Given the description of an element on the screen output the (x, y) to click on. 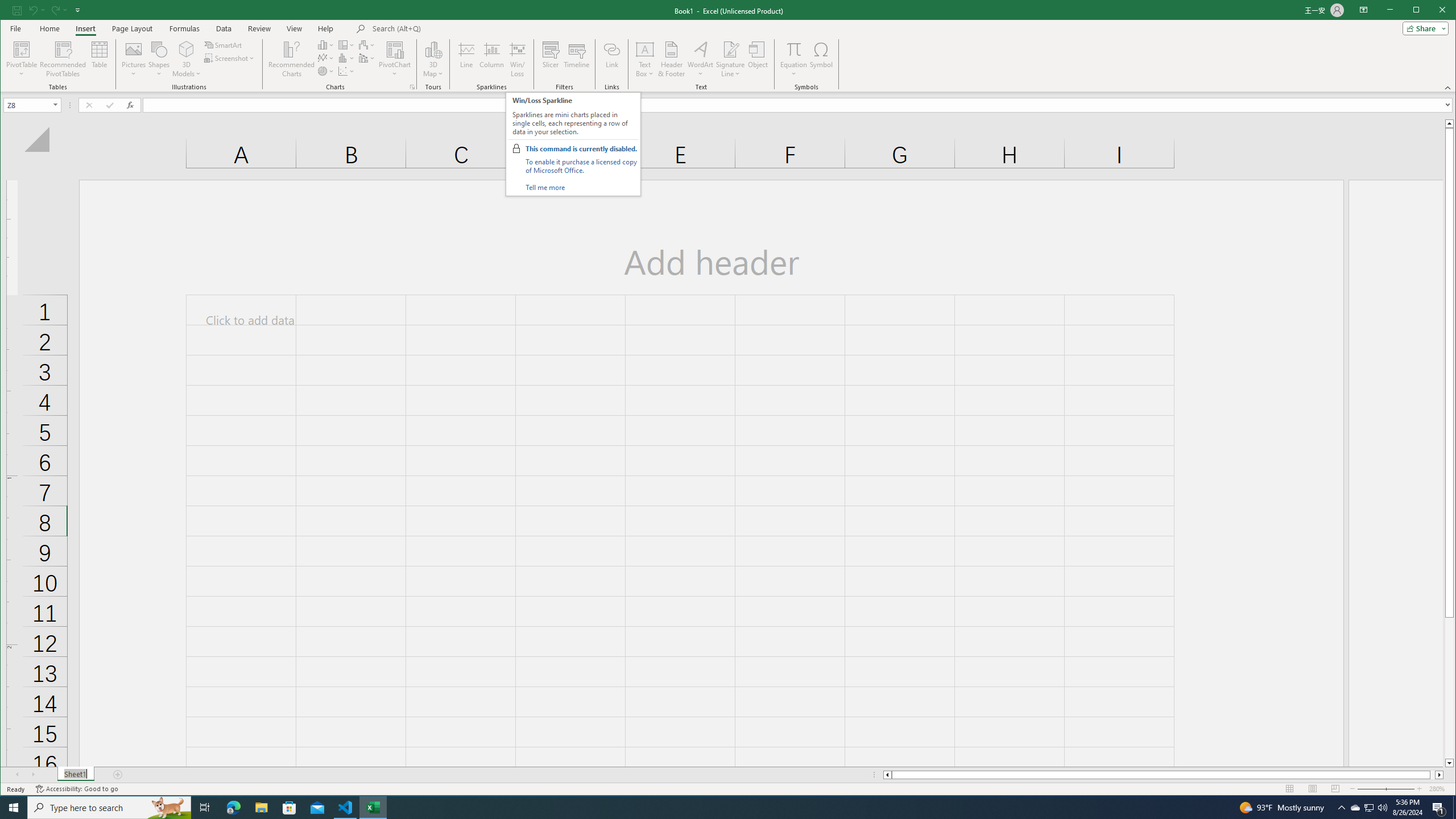
Object... (757, 59)
Slicer... (550, 59)
Signature Line (729, 48)
Insert Pie or Doughnut Chart (325, 70)
Win/Loss (517, 59)
Column (492, 59)
